Given the description of an element on the screen output the (x, y) to click on. 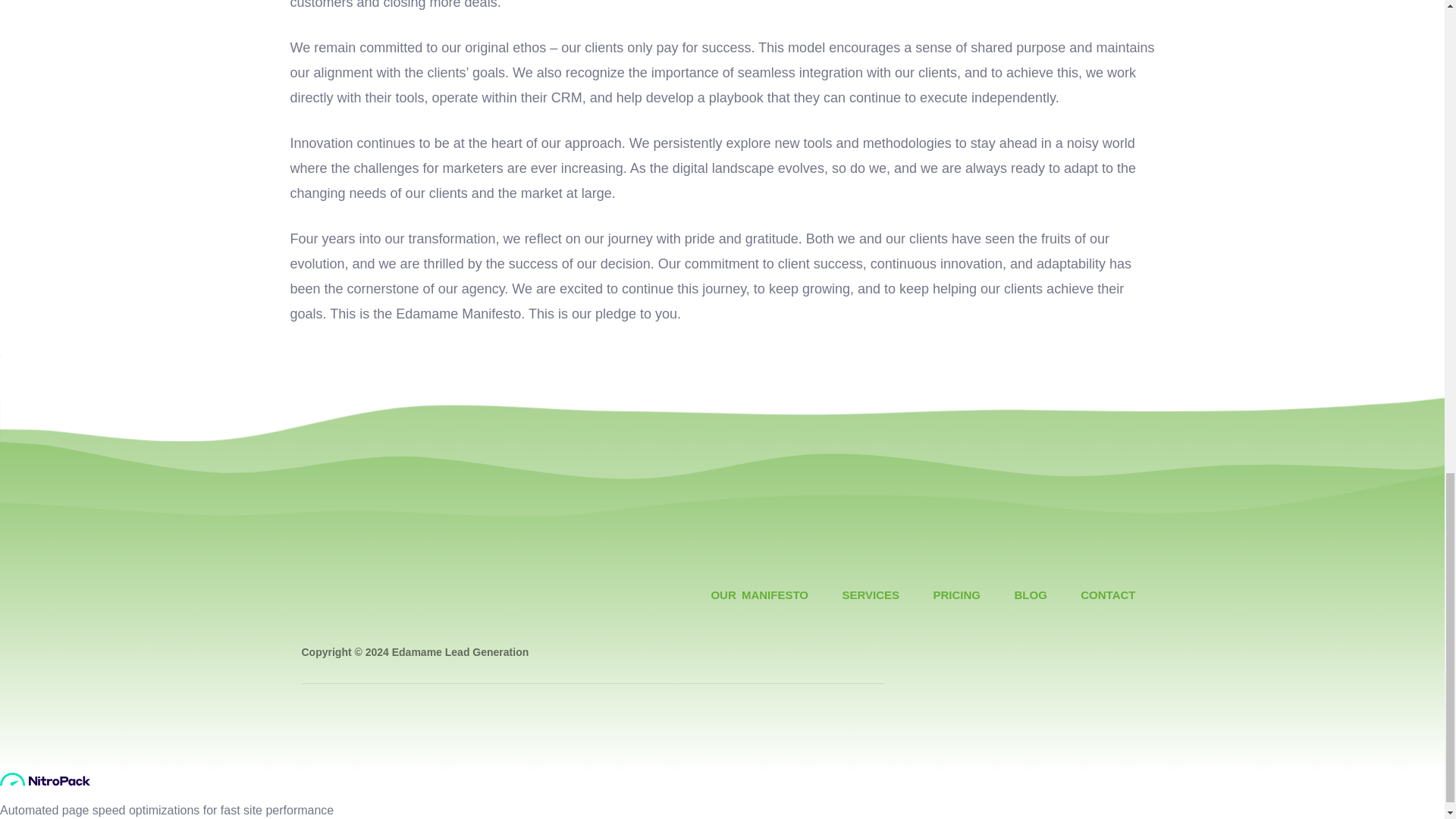
BLOG (1030, 594)
SERVICES (870, 594)
OUR MANIFESTO (759, 594)
CONTACT (1107, 594)
PRICING (957, 594)
